Given the description of an element on the screen output the (x, y) to click on. 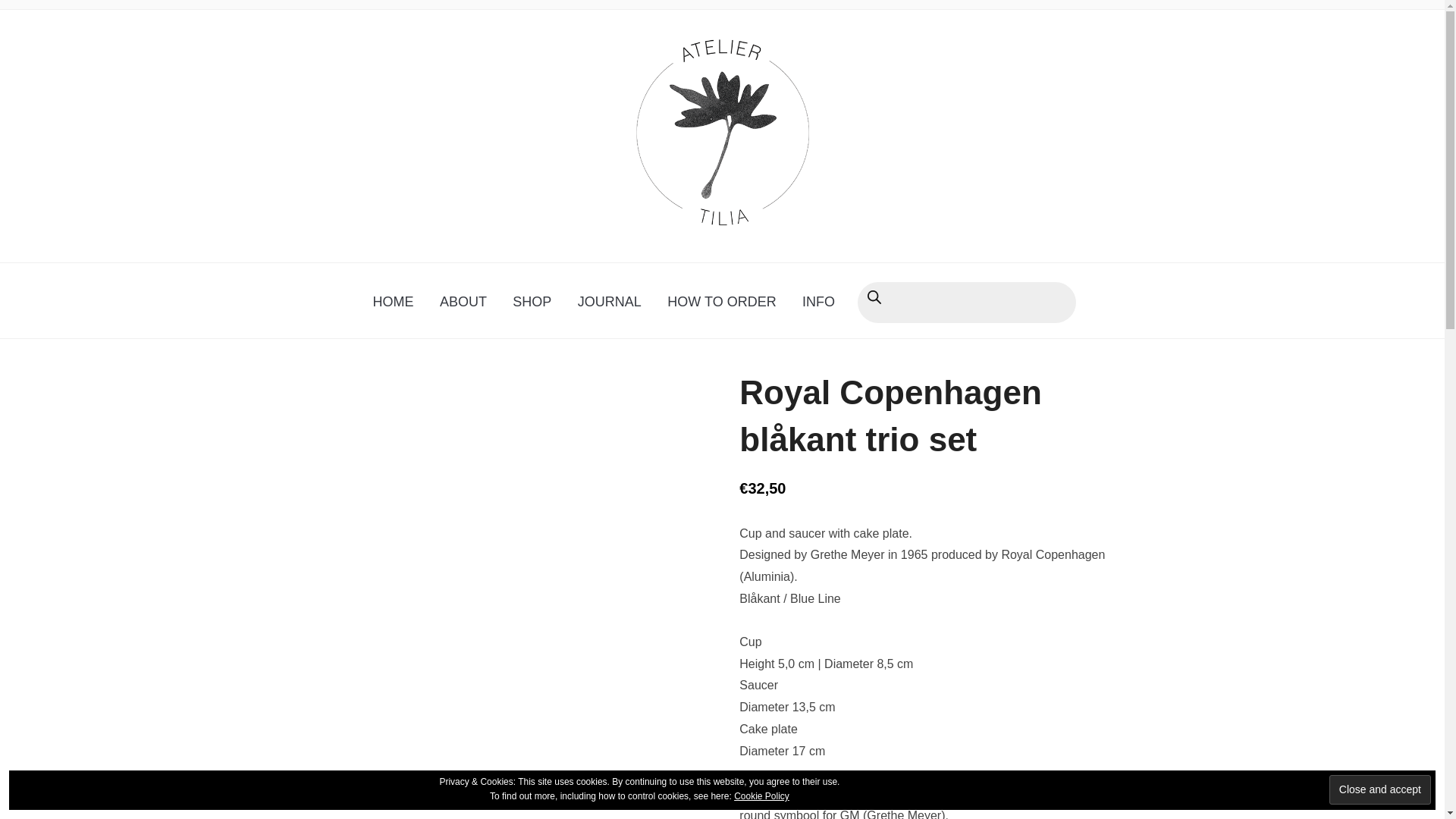
Close and accept (1380, 789)
HOW TO ORDER (721, 302)
ABOUT (462, 302)
INFO (817, 302)
JOURNAL (609, 302)
Cookie Policy (761, 796)
Close and accept (1380, 789)
SHOP (531, 302)
HOME (393, 302)
